Given the description of an element on the screen output the (x, y) to click on. 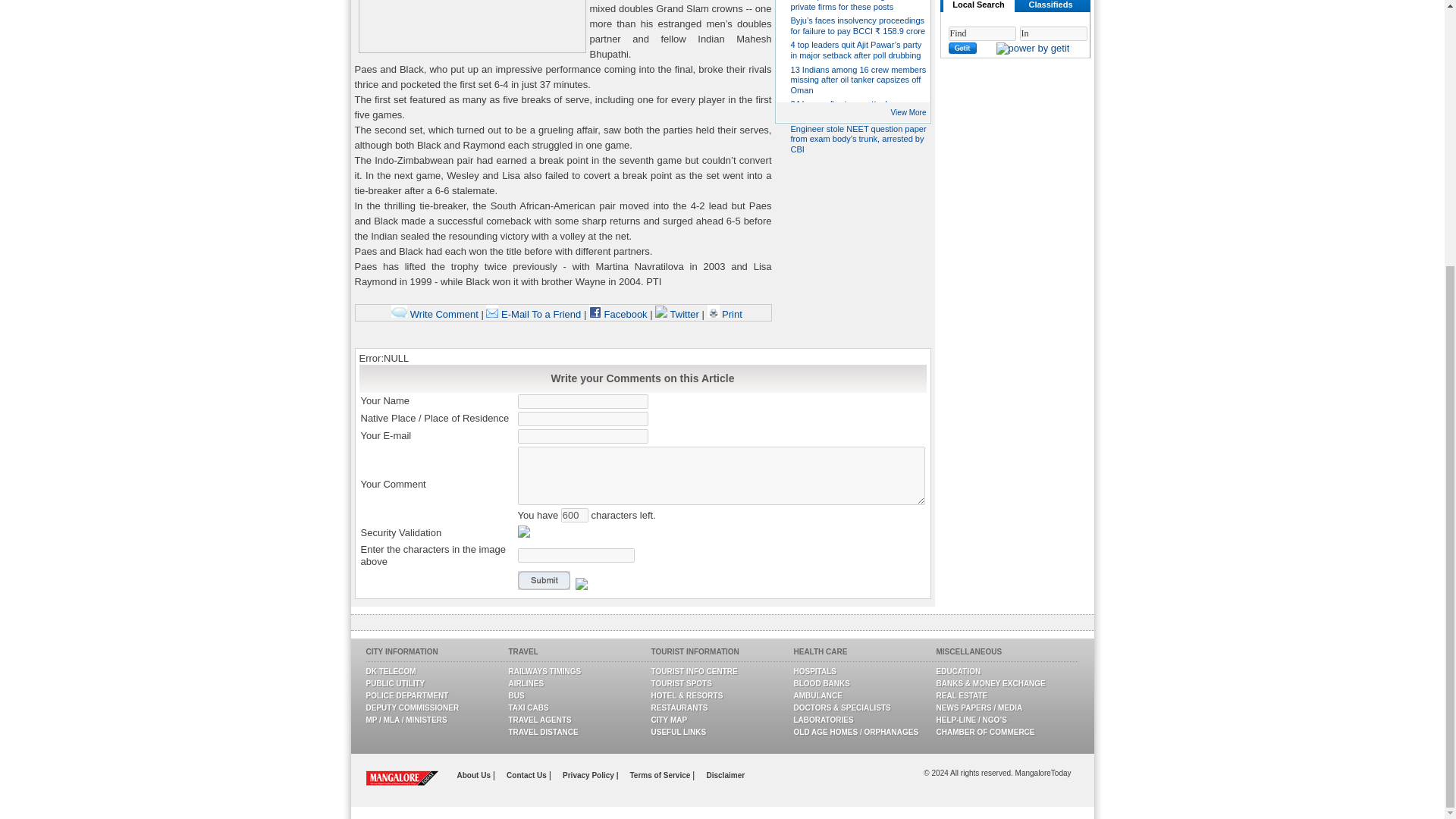
Click to share this post on Twitter (678, 314)
Print (723, 314)
Facebook (618, 314)
Twitter (678, 314)
Find (980, 33)
600 (574, 514)
Write Comment (435, 314)
In (1052, 33)
E-Mail To a Friend (533, 314)
